Given the description of an element on the screen output the (x, y) to click on. 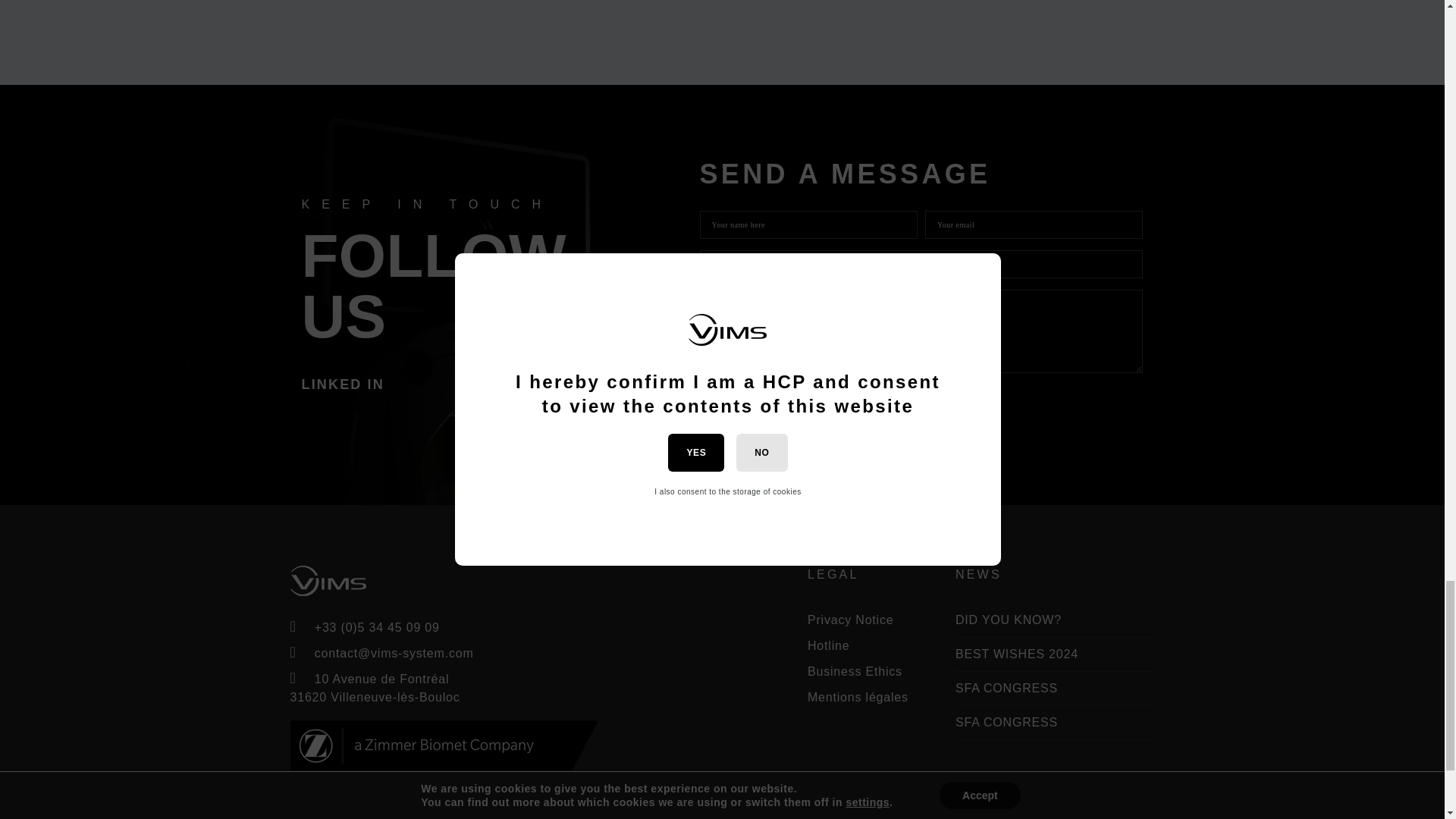
Business Ethics (855, 671)
Hotline (828, 645)
LINKED IN (342, 384)
Send Message (766, 400)
Send Message (766, 400)
DID YOU KNOW? (1008, 619)
Privacy Notice (850, 619)
